Given the description of an element on the screen output the (x, y) to click on. 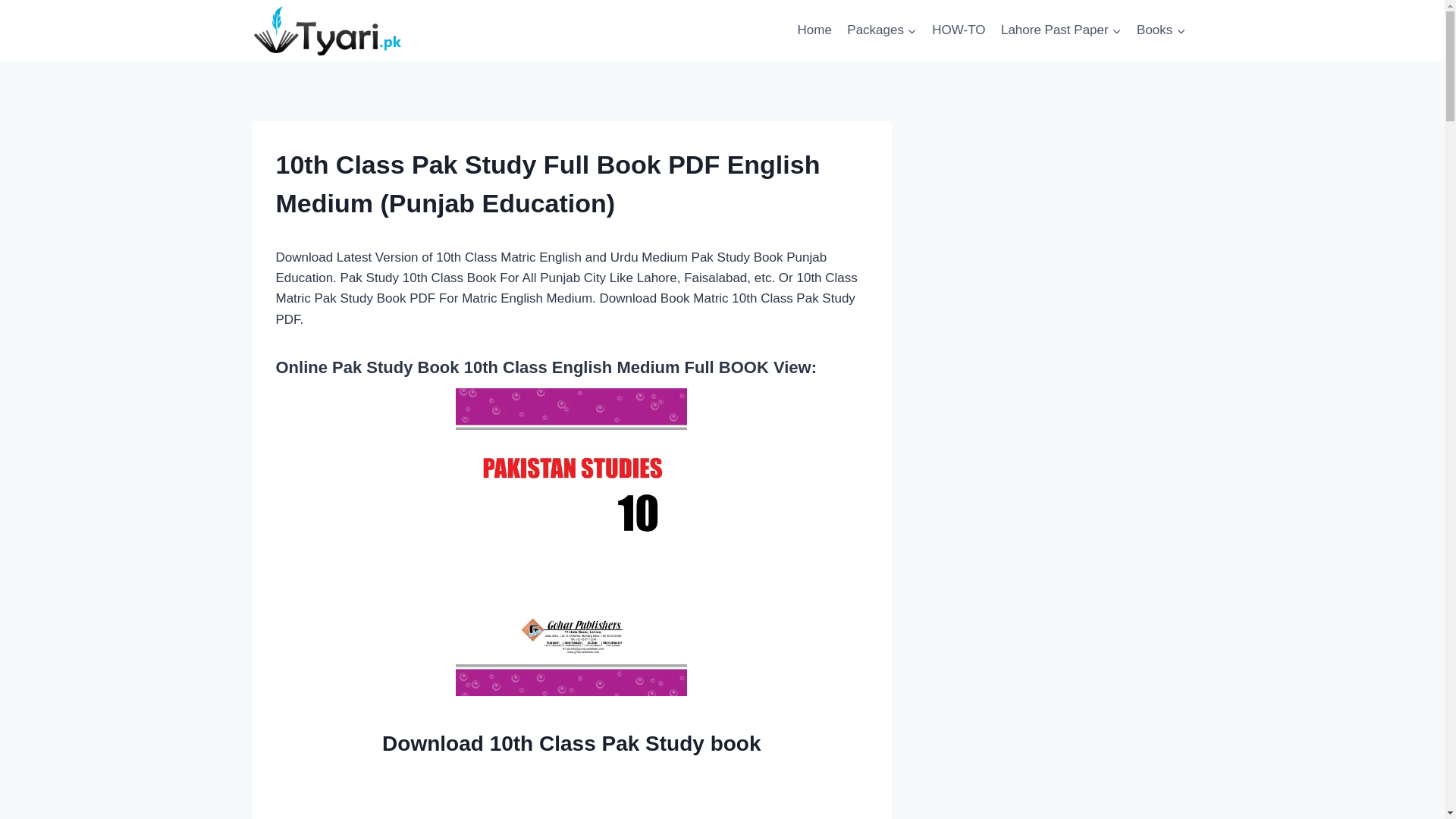
Books (1161, 30)
Lahore Past Paper (1060, 30)
Packages (882, 30)
Advertisement (571, 794)
HOW-TO (958, 30)
Home (814, 30)
